Given the description of an element on the screen output the (x, y) to click on. 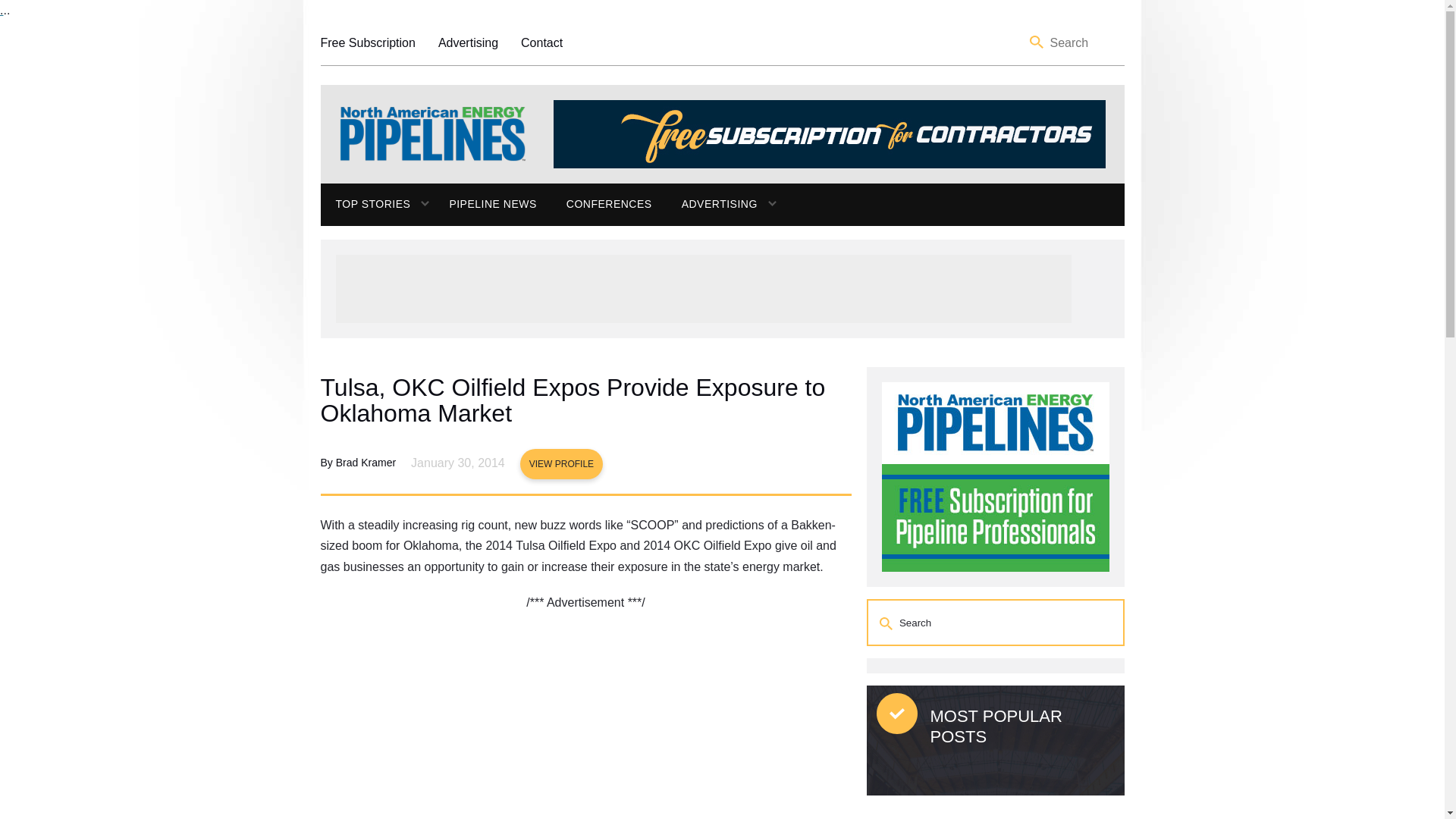
TOP STORIES (365, 204)
Free Subscription (367, 42)
Contact (541, 42)
Search (1037, 43)
ADVERTISING (711, 204)
PIPELINE NEWS (491, 204)
CONFERENCES (608, 204)
Advertising (467, 42)
Search (887, 622)
Free Magazine Subscription (367, 42)
VIEW PROFILE (560, 463)
